Given the description of an element on the screen output the (x, y) to click on. 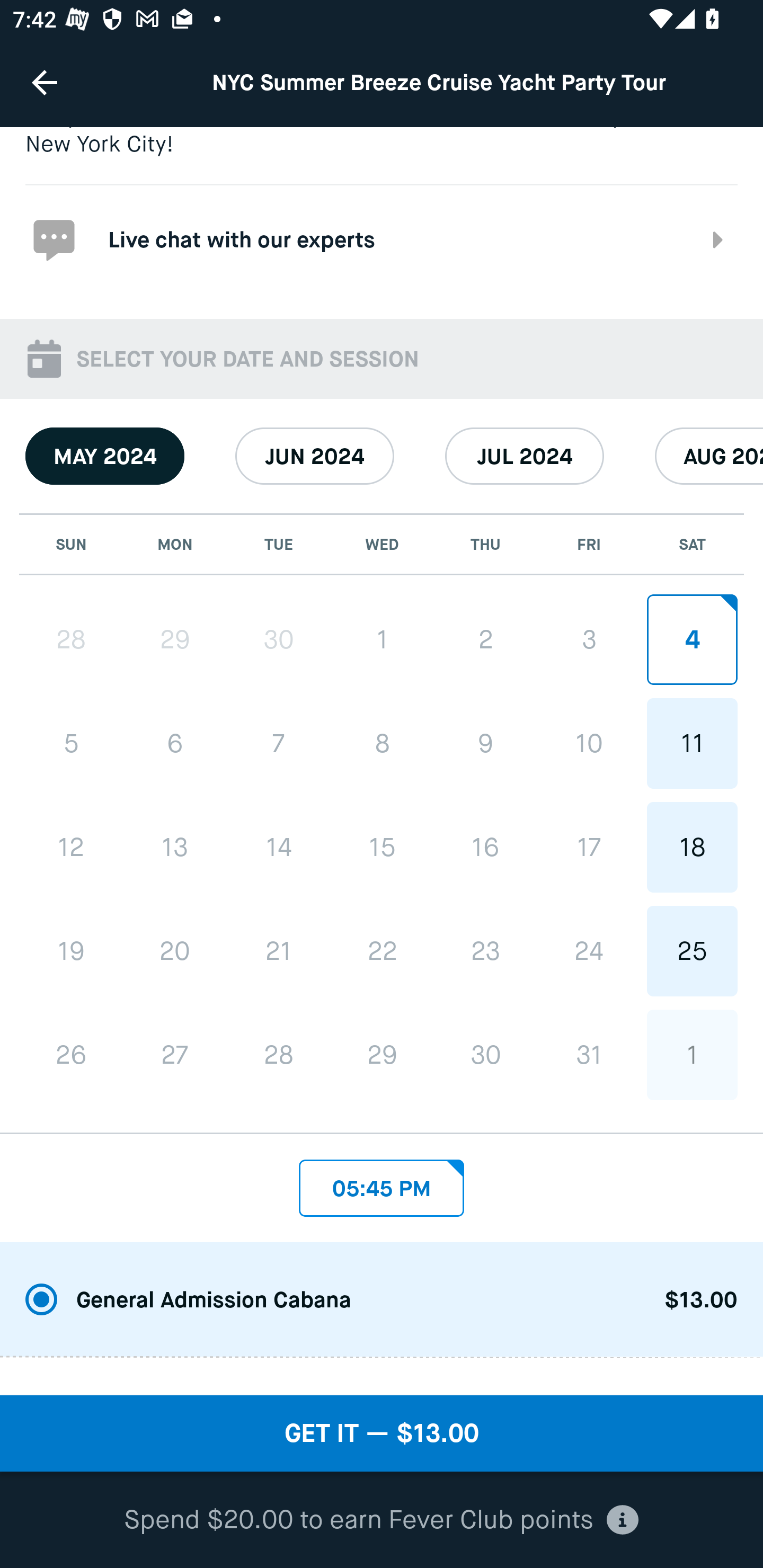
Navigate up (44, 82)
Live chat with our experts (381, 238)
MAY 2024 (104, 455)
JUN 2024 (314, 455)
JUL 2024 (524, 455)
AUG 2024 (708, 455)
28 (70, 639)
29 (174, 639)
30 (278, 639)
1 (382, 639)
2 (485, 639)
3 (588, 639)
4 (692, 639)
5 (70, 742)
6 (174, 742)
7 (278, 742)
8 (382, 742)
9 (485, 742)
10 (588, 742)
11 (692, 742)
12 (70, 847)
13 (174, 847)
14 (278, 847)
15 (382, 846)
16 (485, 846)
17 (588, 846)
18 (692, 846)
19 (70, 951)
20 (174, 951)
21 (278, 951)
22 (382, 950)
23 (485, 950)
24 (588, 950)
25 (692, 950)
26 (70, 1054)
27 (174, 1054)
28 (278, 1054)
29 (382, 1054)
30 (485, 1054)
31 (588, 1054)
1 (692, 1054)
05:45 PM (381, 1182)
General Admission Cabana $13.00 (381, 1299)
GET IT — $13.00 (381, 1433)
Spend $20.00 to earn Fever Club points (381, 1519)
